Given the description of an element on the screen output the (x, y) to click on. 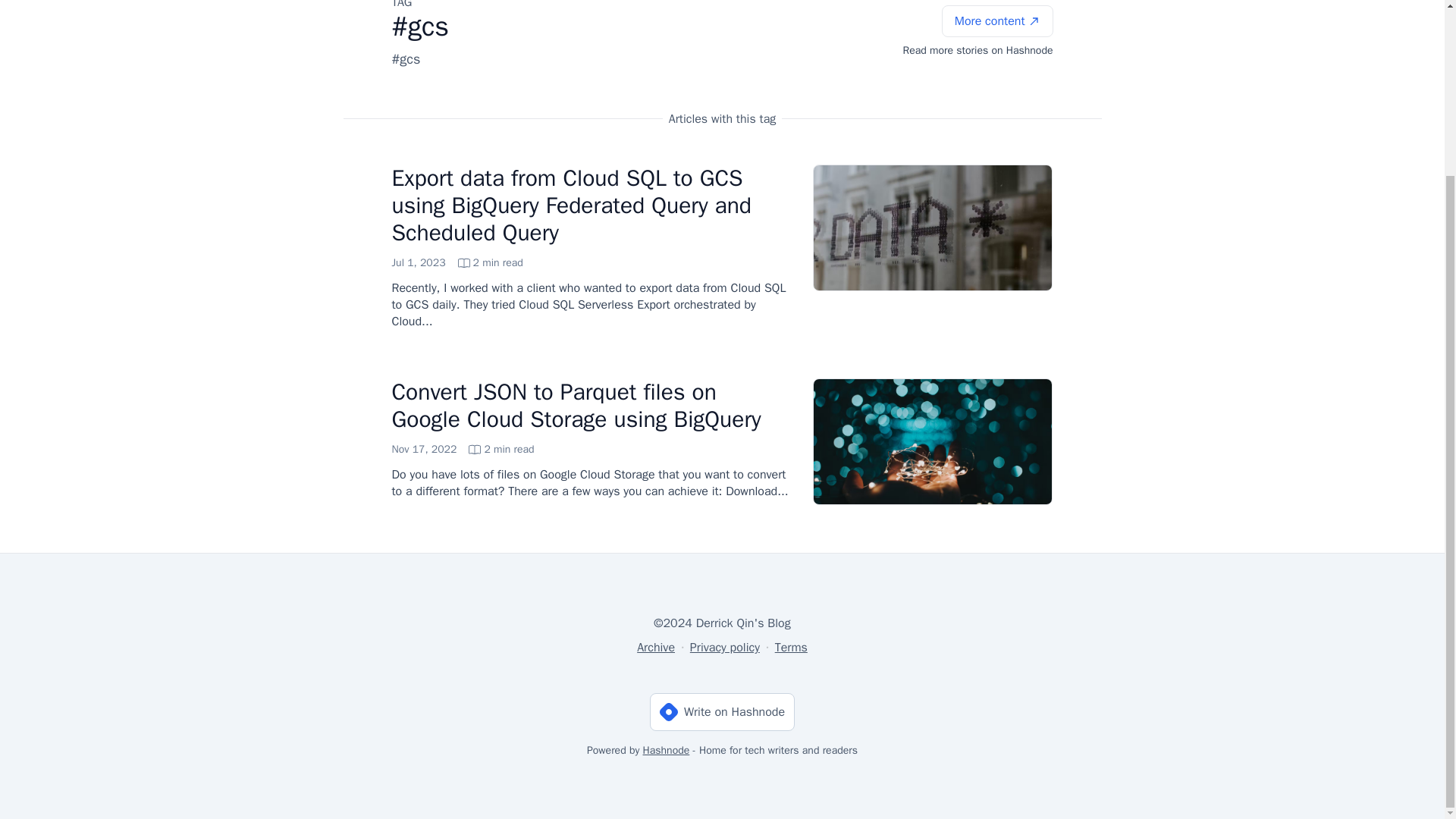
More content (456, 263)
Archive (997, 20)
Terms (656, 647)
Privacy policy (791, 647)
Hashnode (462, 449)
